Given the description of an element on the screen output the (x, y) to click on. 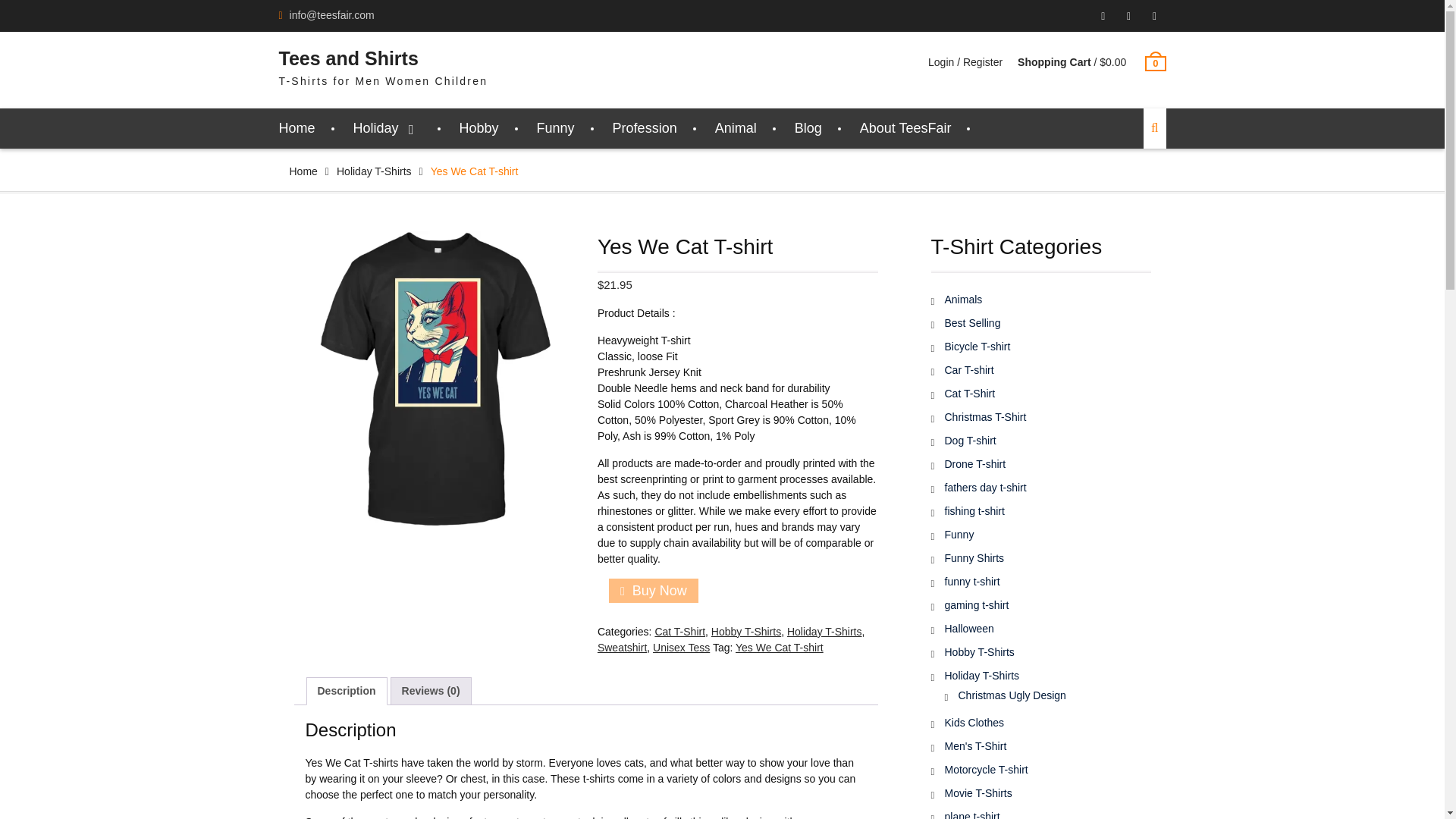
Cat T-Shirt (678, 631)
Holiday (387, 128)
Yes We Cat T-shirt (779, 647)
Sweatshirt (621, 647)
Hobby (479, 128)
Home (303, 171)
Facebook (1129, 15)
Buy Now (653, 590)
Holiday T-Shirts (374, 171)
Animal (735, 128)
